Given the description of an element on the screen output the (x, y) to click on. 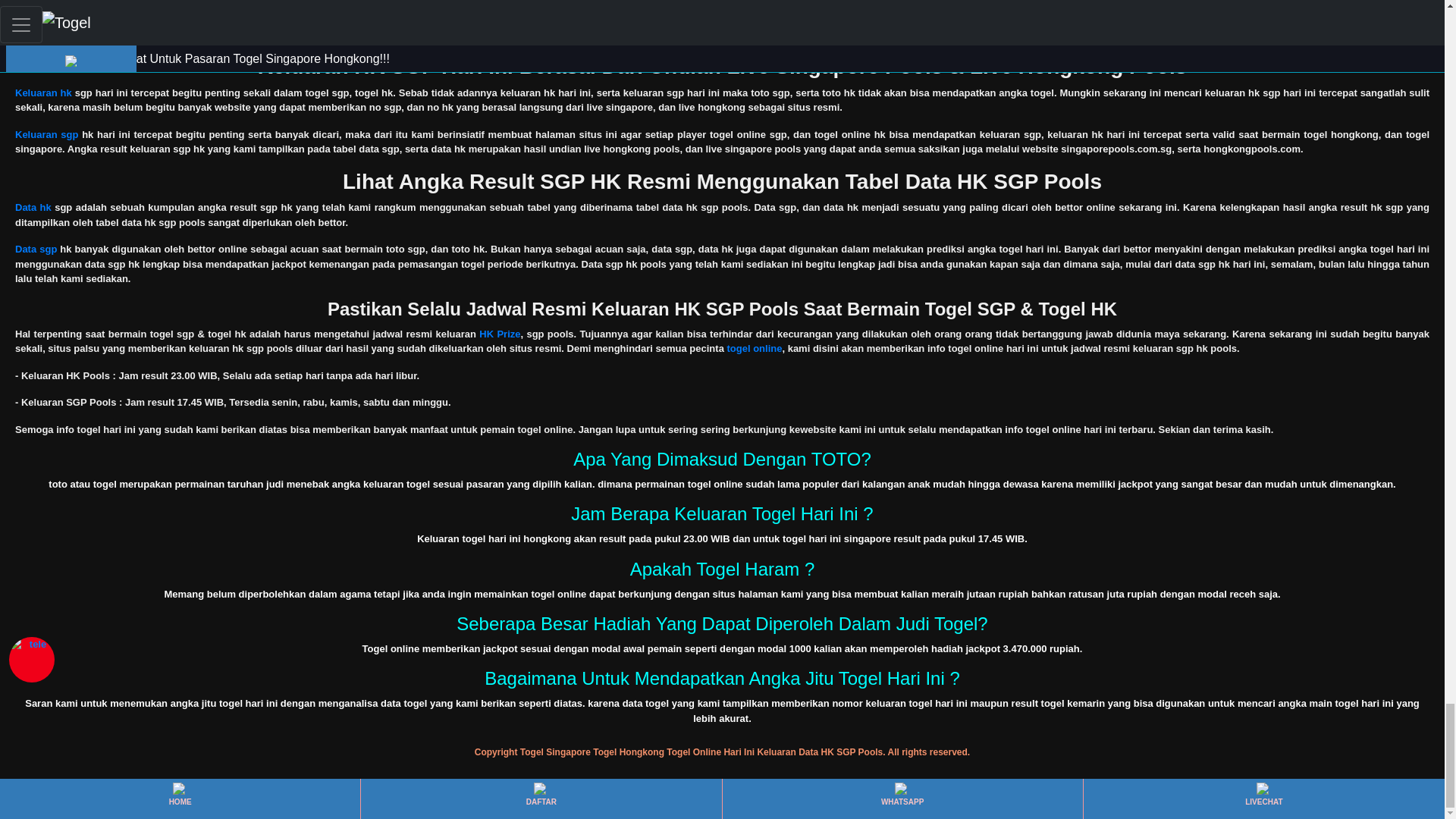
togel online (753, 348)
Keluaran sgp (46, 134)
Keluaran hk (42, 92)
Data sgp (35, 248)
Data hk (32, 206)
HK Prize (499, 333)
Togel hari ini (45, 19)
